Given the description of an element on the screen output the (x, y) to click on. 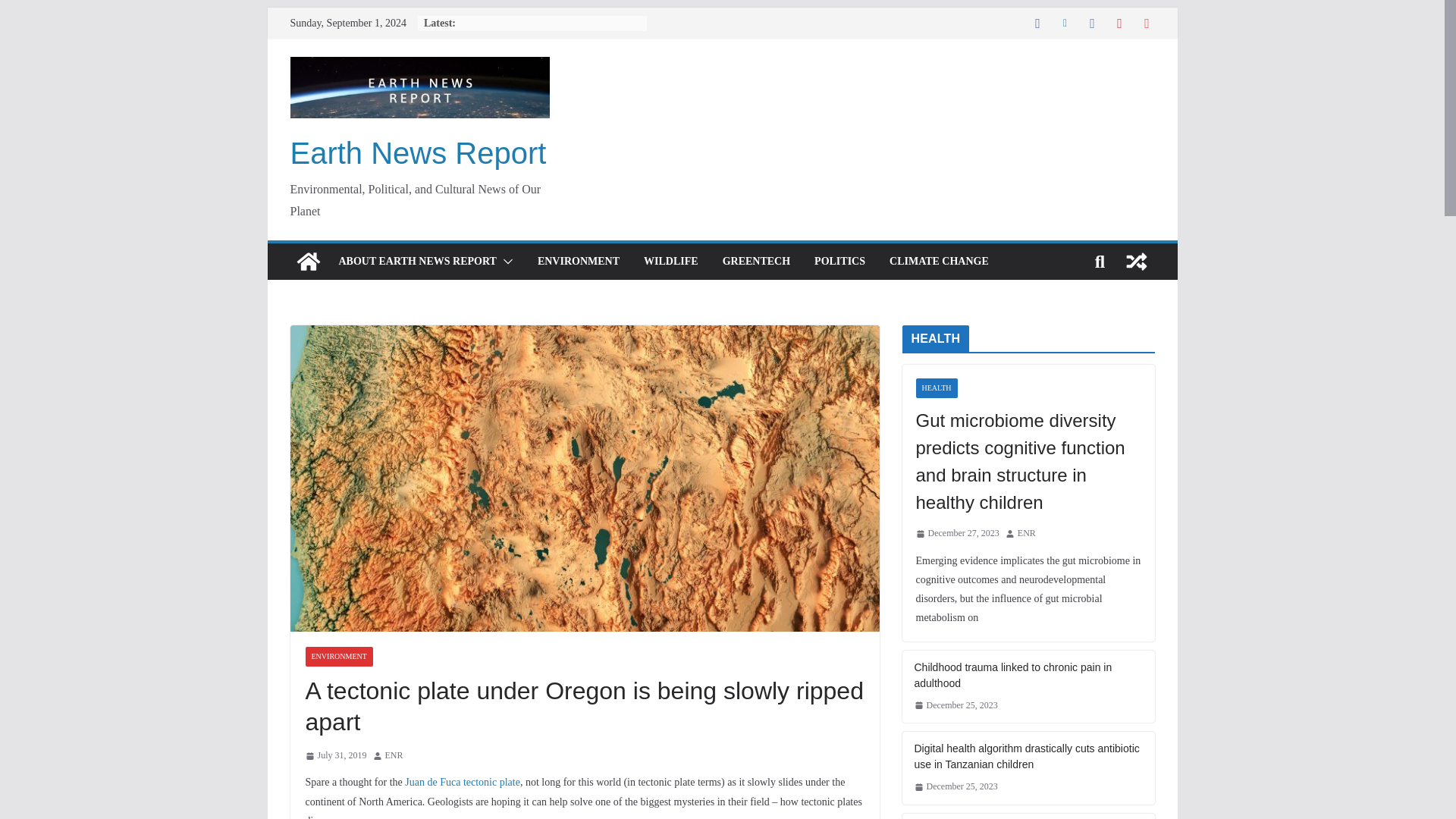
View a random post (1136, 261)
ENVIRONMENT (338, 656)
ABOUT EARTH NEWS REPORT (416, 260)
July 31, 2019 (335, 755)
ENR (394, 755)
Juan de Fuca tectonic plate (461, 781)
Earth News Report (417, 152)
WILDLIFE (670, 260)
GREENTECH (756, 260)
